Given the description of an element on the screen output the (x, y) to click on. 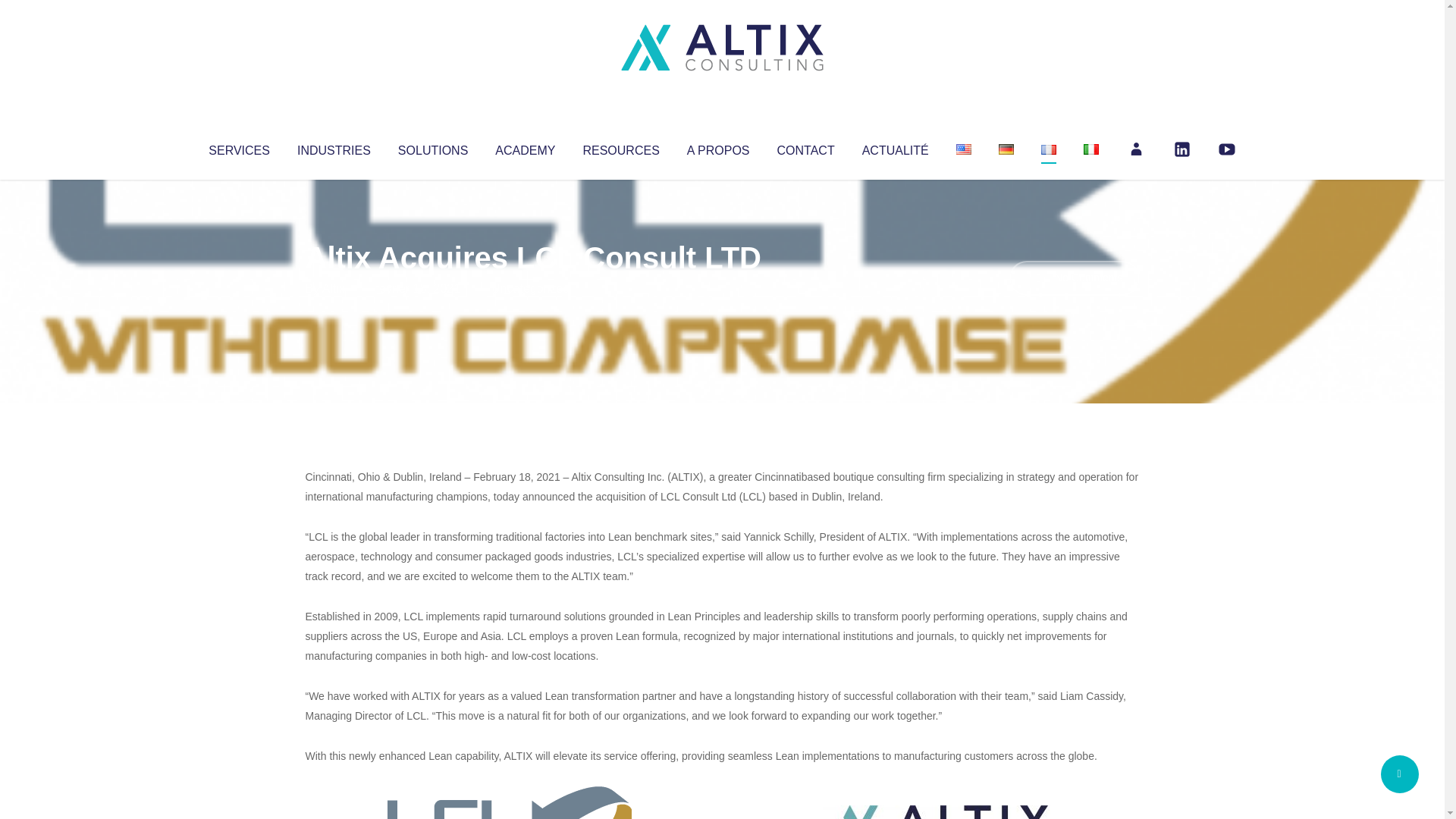
SOLUTIONS (432, 146)
Altix (333, 287)
No Comments (1073, 278)
INDUSTRIES (334, 146)
RESOURCES (620, 146)
SERVICES (238, 146)
Articles par Altix (333, 287)
A PROPOS (718, 146)
ACADEMY (524, 146)
Uncategorized (530, 287)
